Given the description of an element on the screen output the (x, y) to click on. 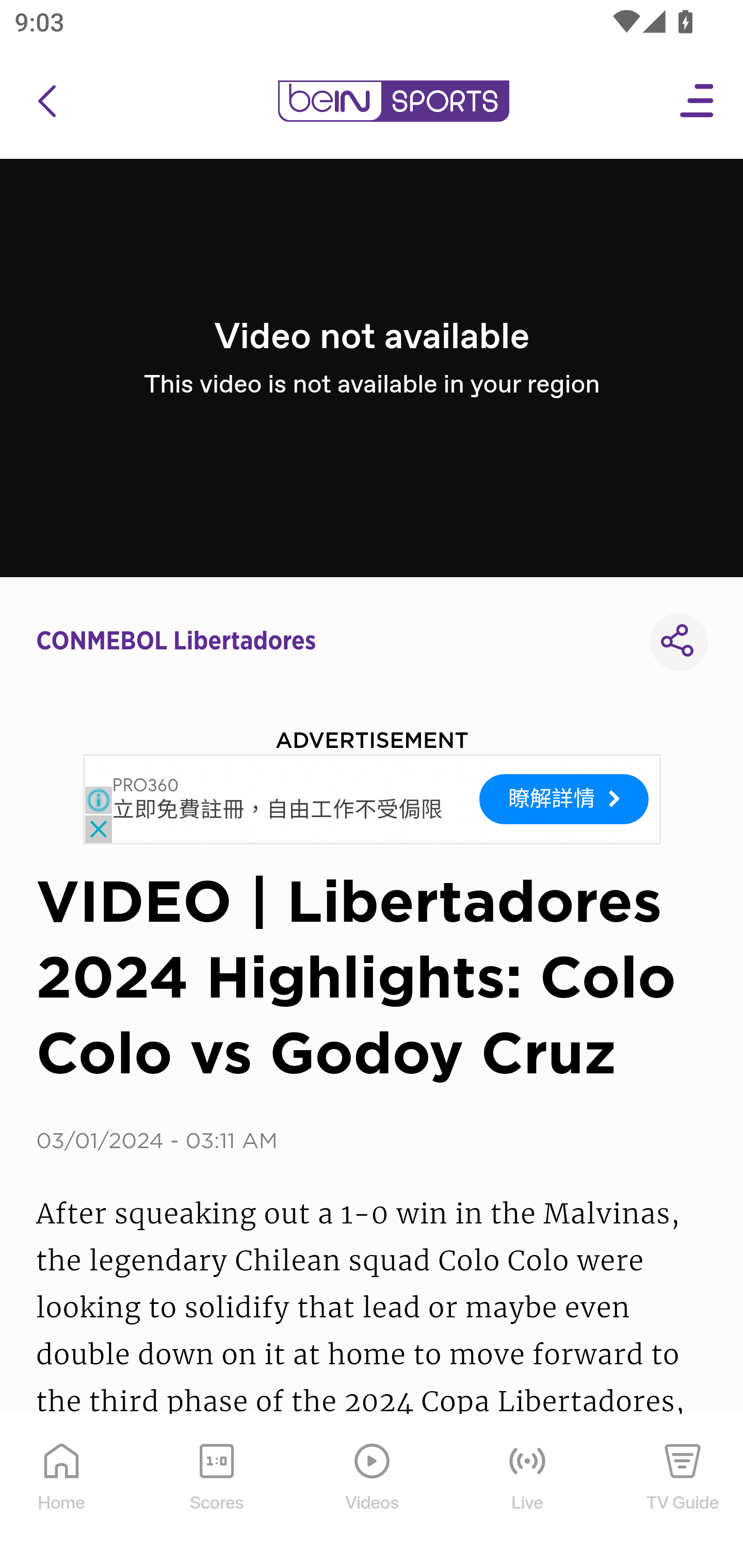
en-us?platform=mobile_android bein logo (392, 101)
icon back (46, 101)
Open Menu Icon (697, 101)
瞭解詳情 (564, 798)
PRO360 (146, 786)
立即免費註冊，自由工作不受侷限 (278, 810)
Home Home Icon Home (61, 1491)
Scores Scores Icon Scores (216, 1491)
Videos Videos Icon Videos (372, 1491)
TV Guide TV Guide Icon TV Guide (682, 1491)
